Given the description of an element on the screen output the (x, y) to click on. 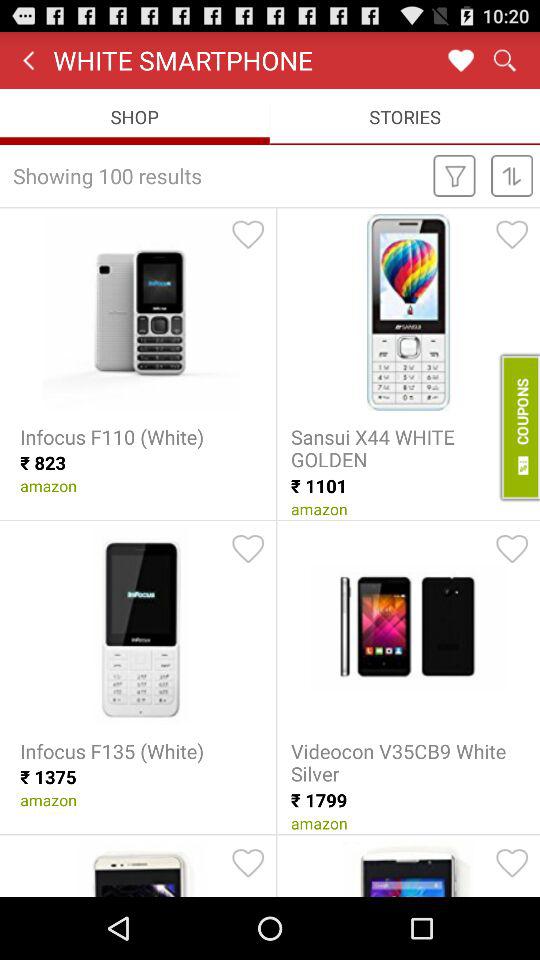
hit to favourite an item (248, 549)
